Given the description of an element on the screen output the (x, y) to click on. 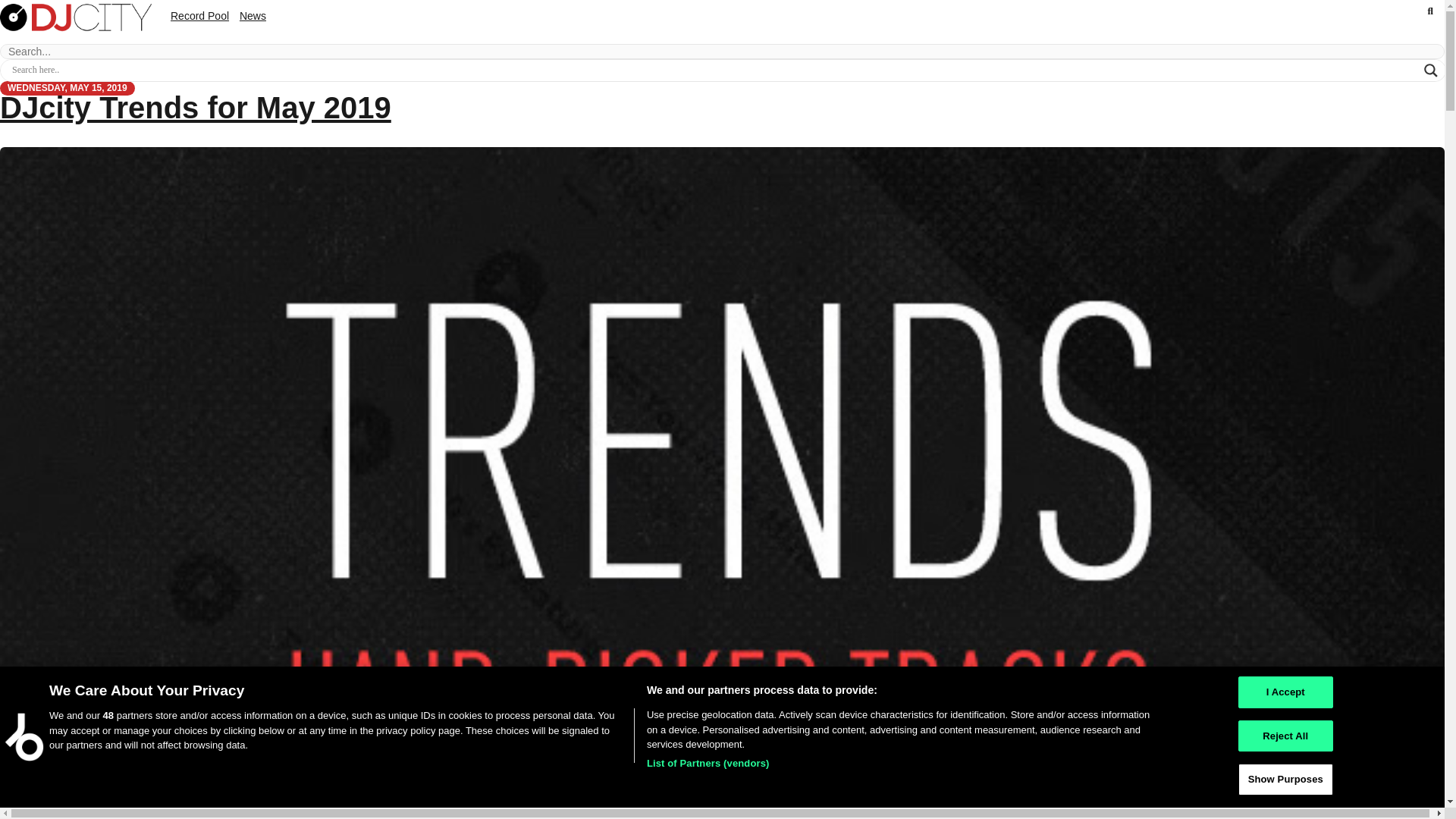
DJcity Trends for May 2019 (195, 107)
Company Logo (24, 736)
News (253, 15)
DJcity Trends for May 2019 (195, 107)
Record Pool (199, 15)
